Given the description of an element on the screen output the (x, y) to click on. 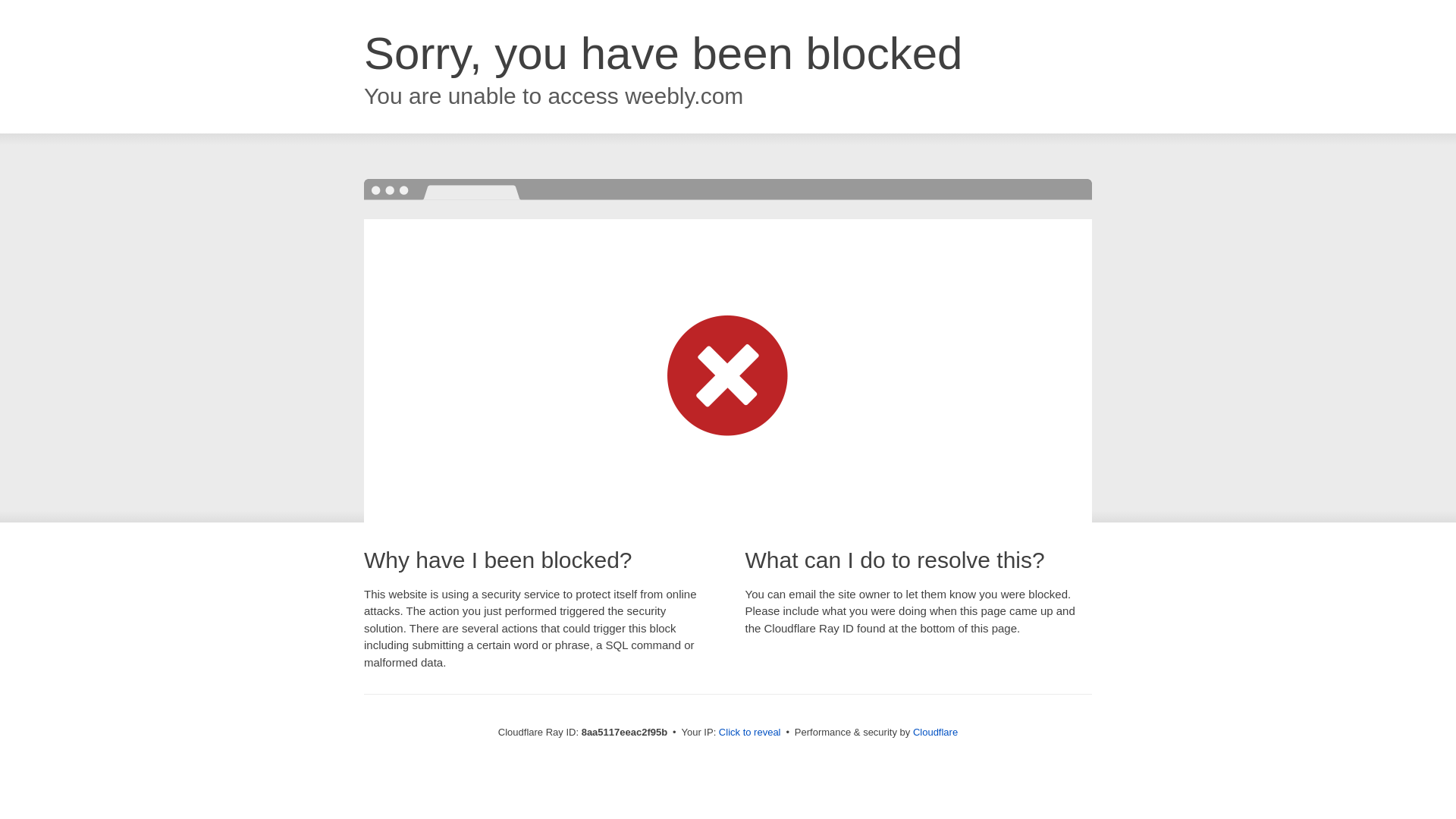
Click to reveal (749, 732)
Cloudflare (935, 731)
